Given the description of an element on the screen output the (x, y) to click on. 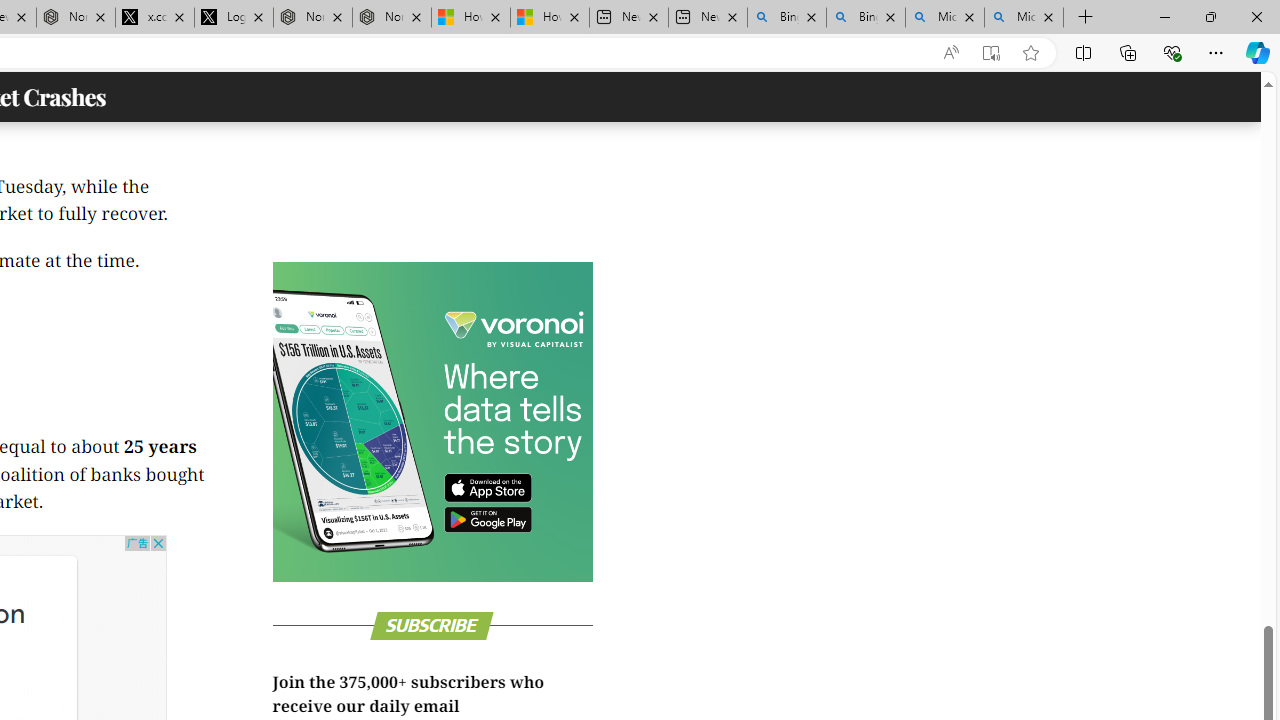
Terms (1250, 317)
Log in to X / X (233, 17)
Microsoft Bing Timeline - Search (1023, 17)
Enter Immersive Reader (F9) (991, 53)
x.com/NordaceOfficial (155, 17)
